Given the description of an element on the screen output the (x, y) to click on. 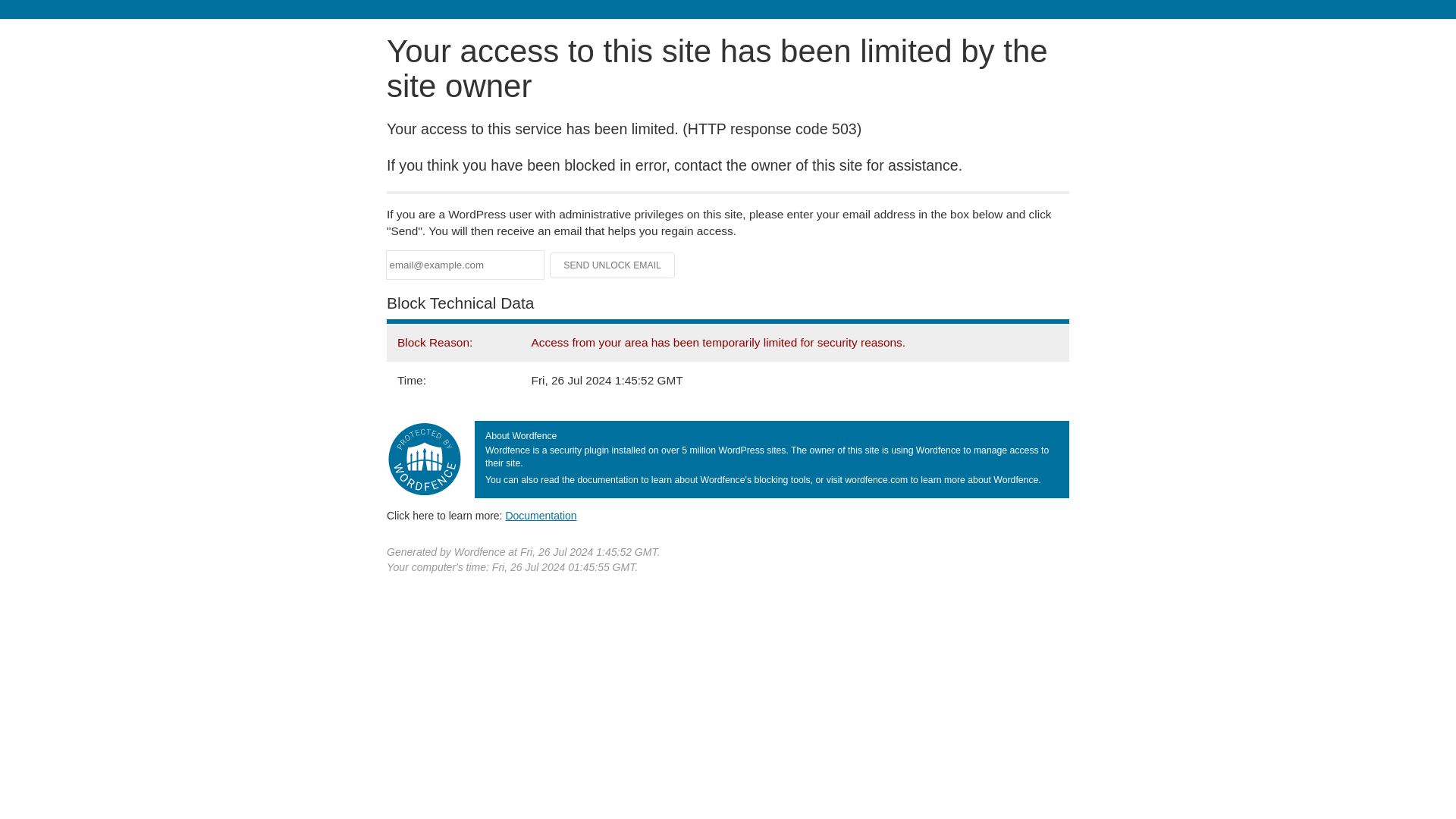
Documentation (540, 515)
Send Unlock Email (612, 265)
Send Unlock Email (612, 265)
